Given the description of an element on the screen output the (x, y) to click on. 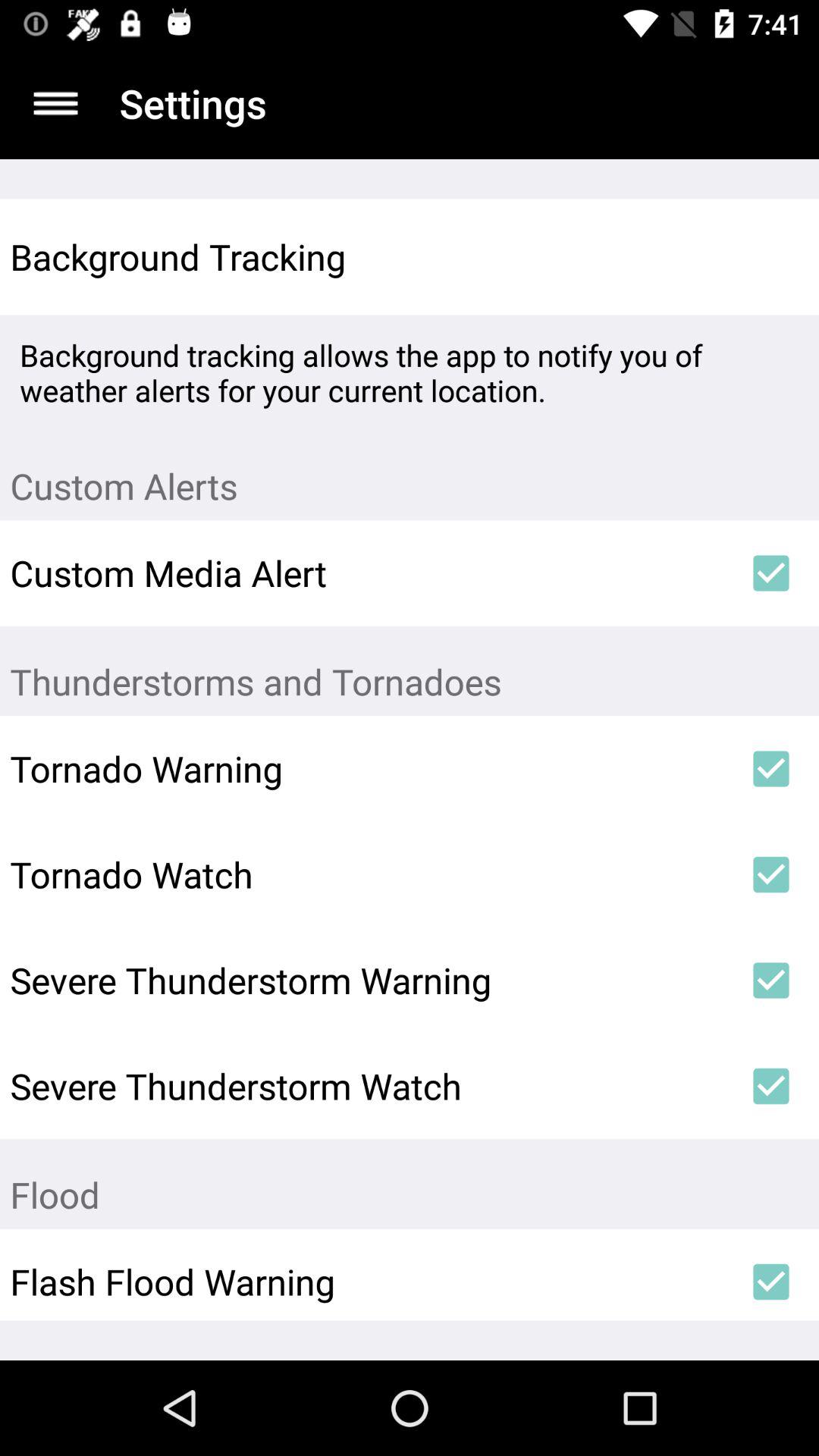
choose the icon next to the flash flood warning item (771, 1281)
